Given the description of an element on the screen output the (x, y) to click on. 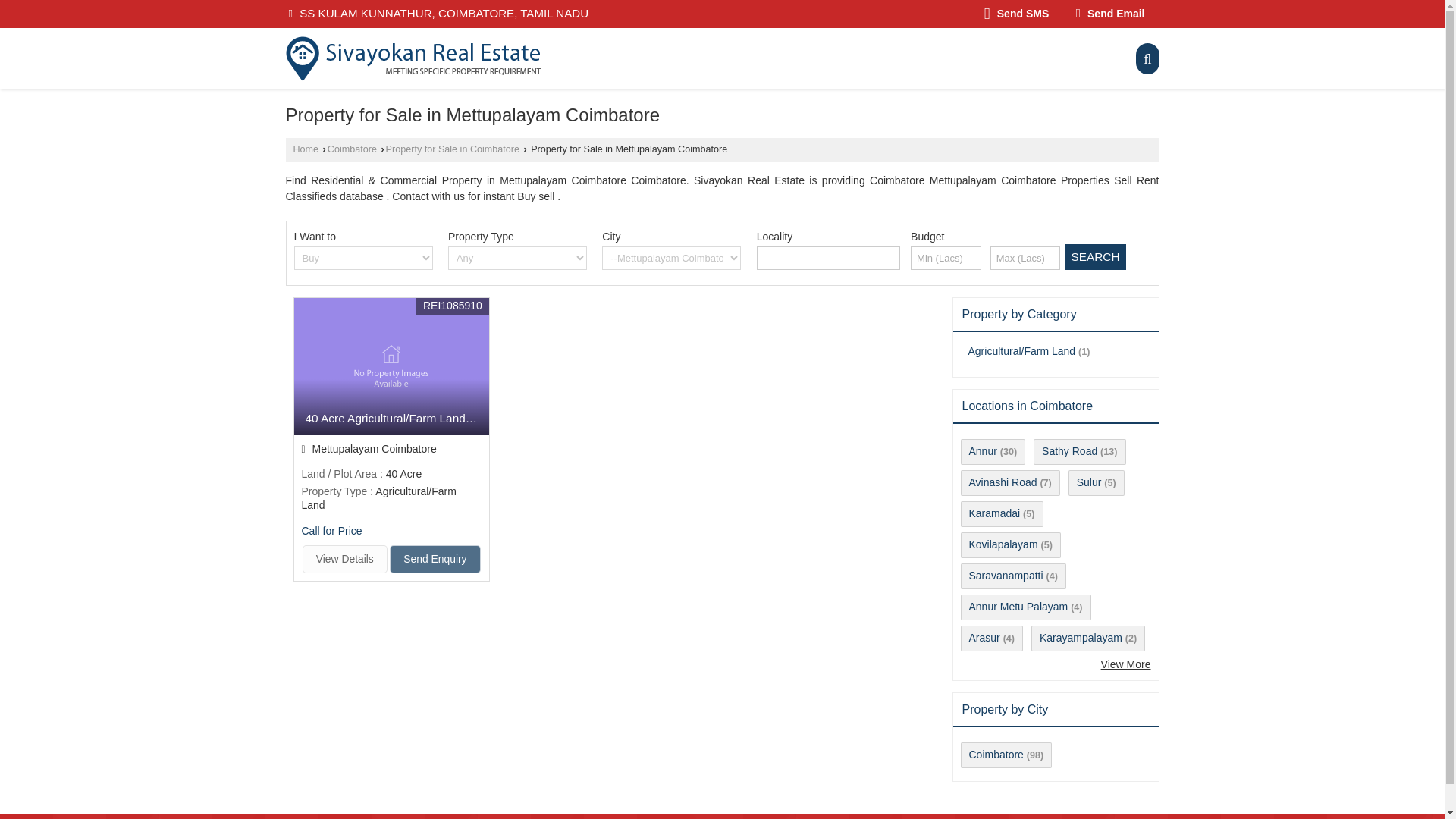
Coimbatore (352, 149)
SEARCH (1094, 257)
Home (305, 149)
View Details (344, 559)
SEARCH (1094, 257)
Sivayokan Real Estate (412, 58)
Send Email (1110, 14)
Send Enquiry (435, 559)
Send SMS (1015, 14)
Property for Sale in Coimbatore (452, 149)
